Given the description of an element on the screen output the (x, y) to click on. 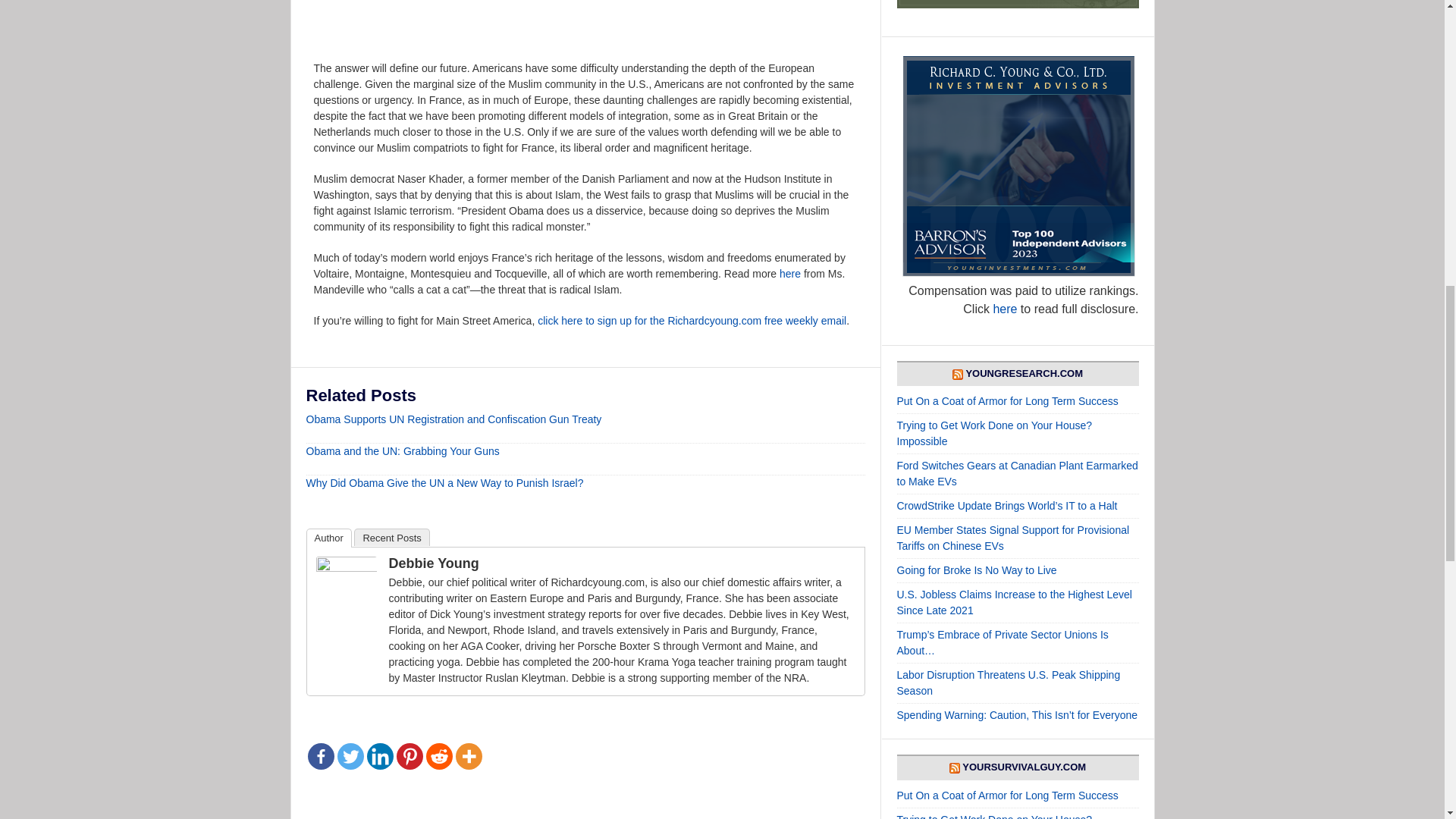
Twitter (349, 755)
Reddit (439, 755)
Pinterest (409, 755)
Linkedin (379, 755)
Obama Supports UN Registration and Confiscation Gun Treaty (453, 419)
Facebook (320, 755)
More (467, 755)
here (789, 273)
